Given the description of an element on the screen output the (x, y) to click on. 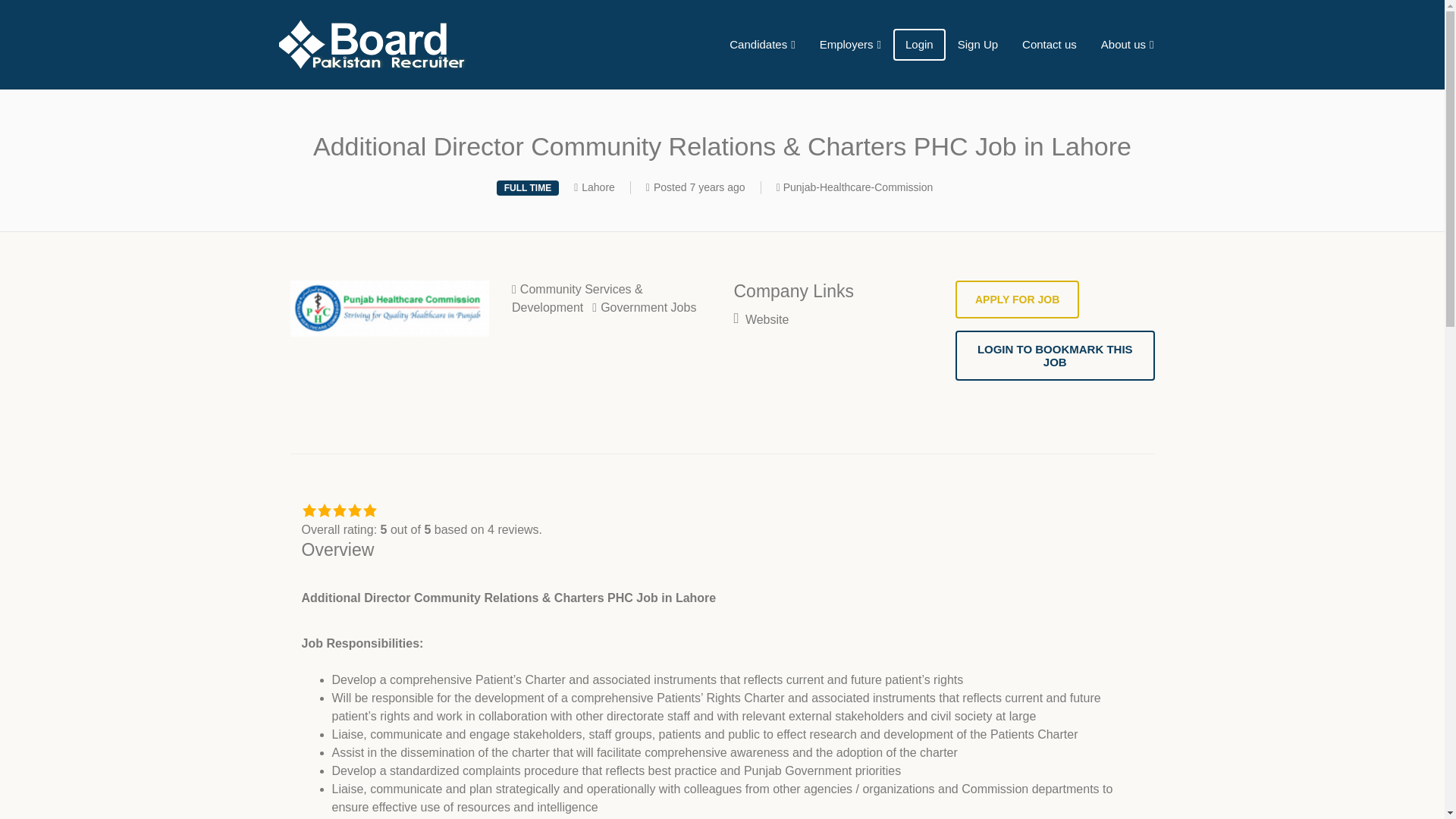
RECRUITERPK (423, 44)
LOGIN TO BOOKMARK THIS JOB (1054, 355)
Website (761, 318)
Candidates (761, 44)
Employers (850, 44)
Contact us (1049, 44)
Apply for job (1016, 299)
Government Jobs (643, 307)
Punjab-Healthcare-Commission (858, 186)
RecruiterPK (423, 44)
Login (918, 44)
About us (1127, 44)
Lahore (597, 186)
Sign Up (977, 44)
